Given the description of an element on the screen output the (x, y) to click on. 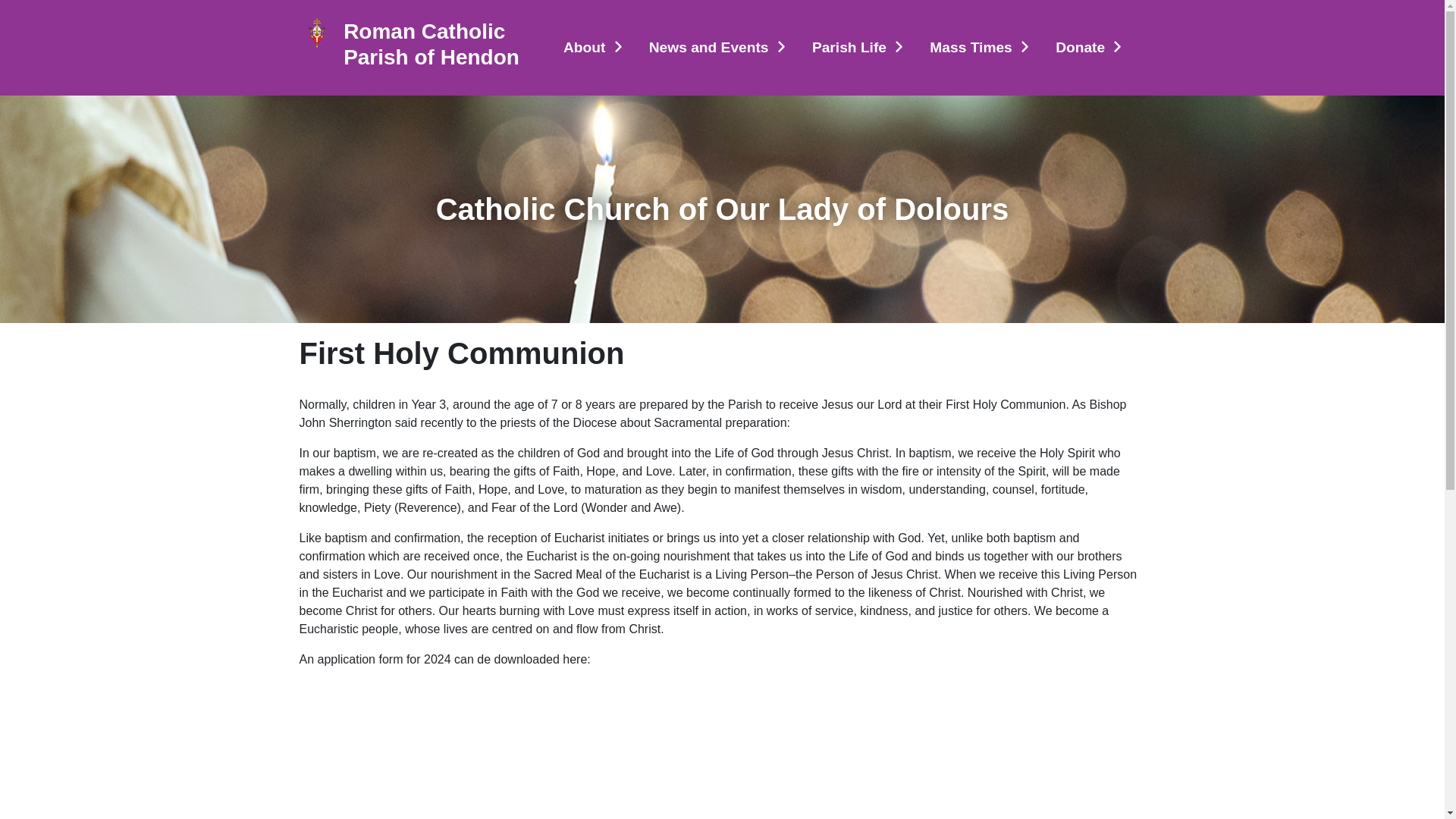
Parish Life (858, 48)
Roman Catholic Parish of Hendon (437, 43)
About (594, 48)
Mass Times (980, 48)
Donate (1089, 48)
News and Events (718, 48)
